Given the description of an element on the screen output the (x, y) to click on. 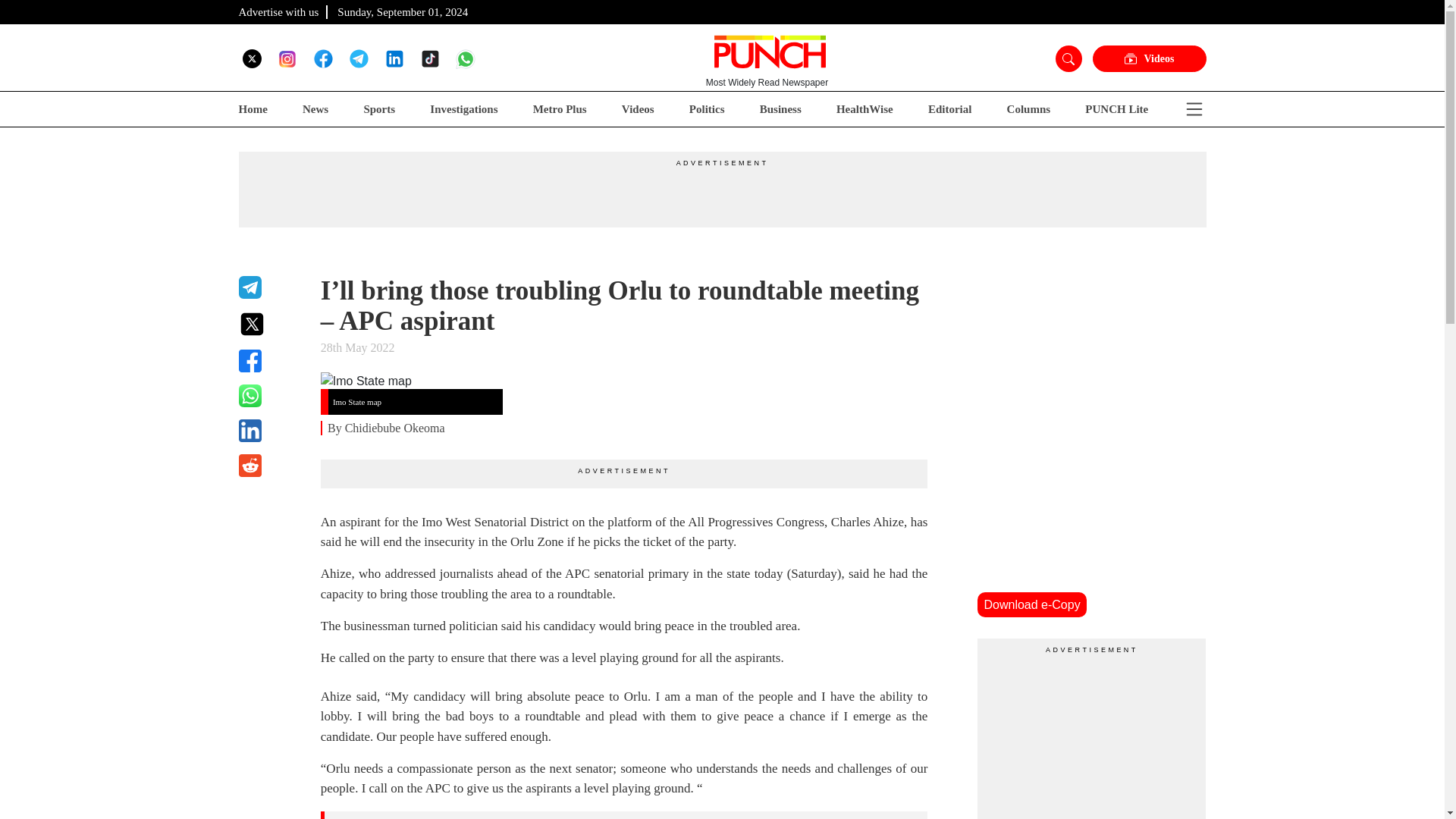
Videos (1148, 58)
Home (252, 109)
Follow Us on X (252, 58)
HealthWise (864, 109)
Advertise with us (278, 11)
Follow us on our Whatsapp Channel (465, 57)
Editorial (950, 109)
Follow Us on Facebook (323, 58)
Metro Plus (559, 109)
Columns (1029, 109)
